Given the description of an element on the screen output the (x, y) to click on. 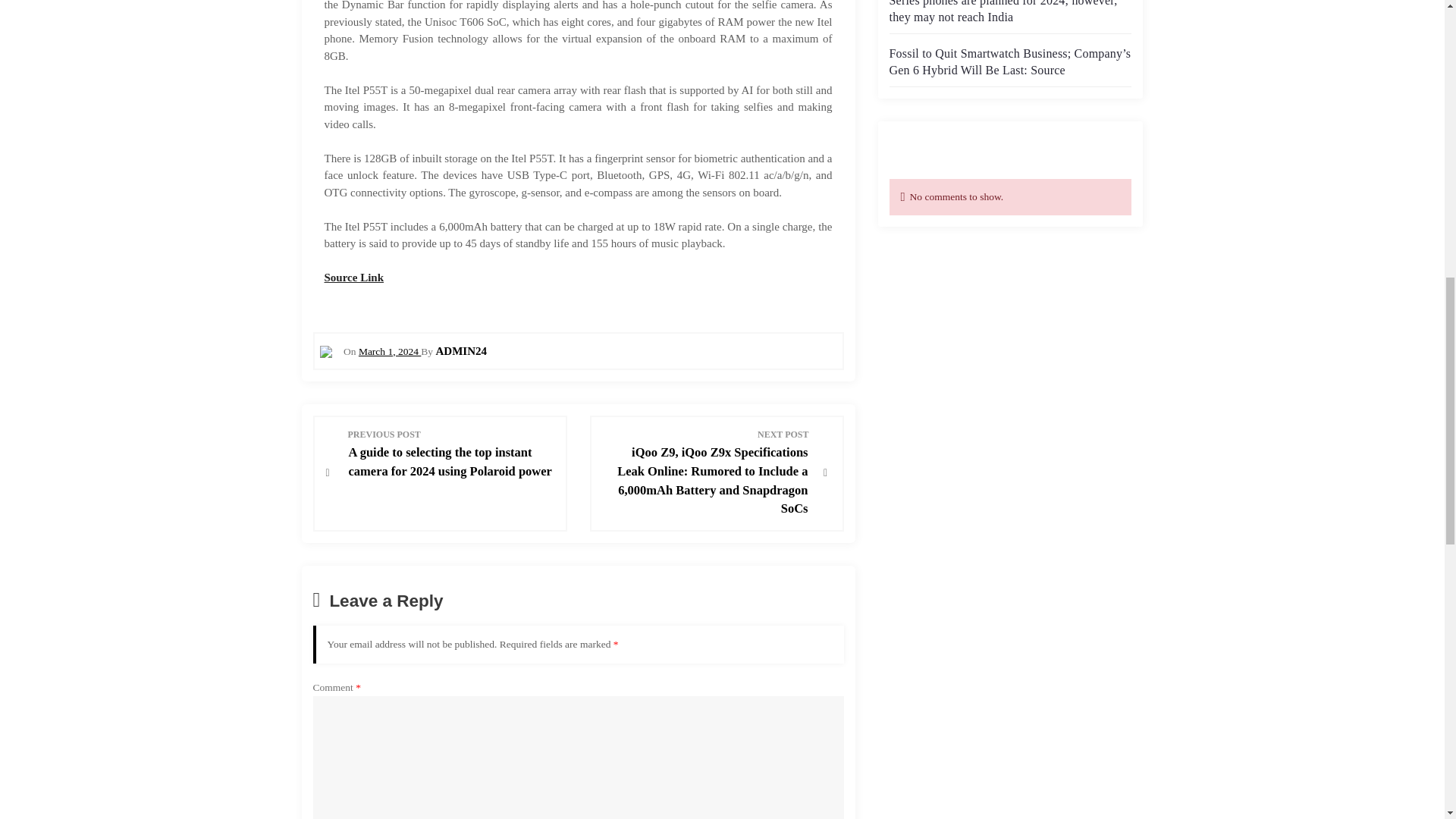
Source Link (354, 277)
March 1, 2024 (389, 351)
ADMIN24 (460, 350)
